Given the description of an element on the screen output the (x, y) to click on. 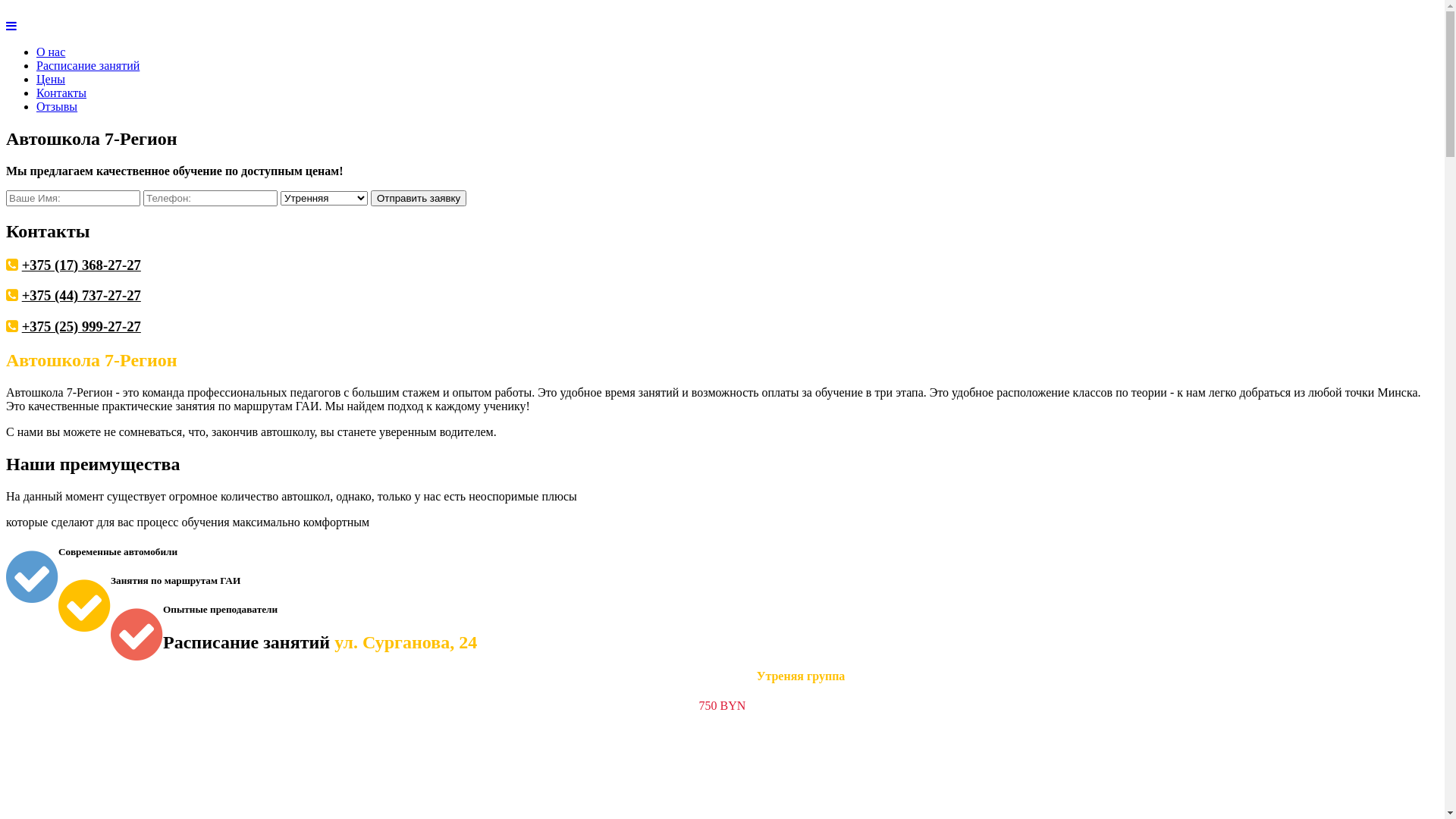
+375 (17) 368-27-27 Element type: text (81, 265)
+375 (44) 737-27-27 Element type: text (81, 295)
+375 (25) 999-27-27 Element type: text (81, 326)
